Given the description of an element on the screen output the (x, y) to click on. 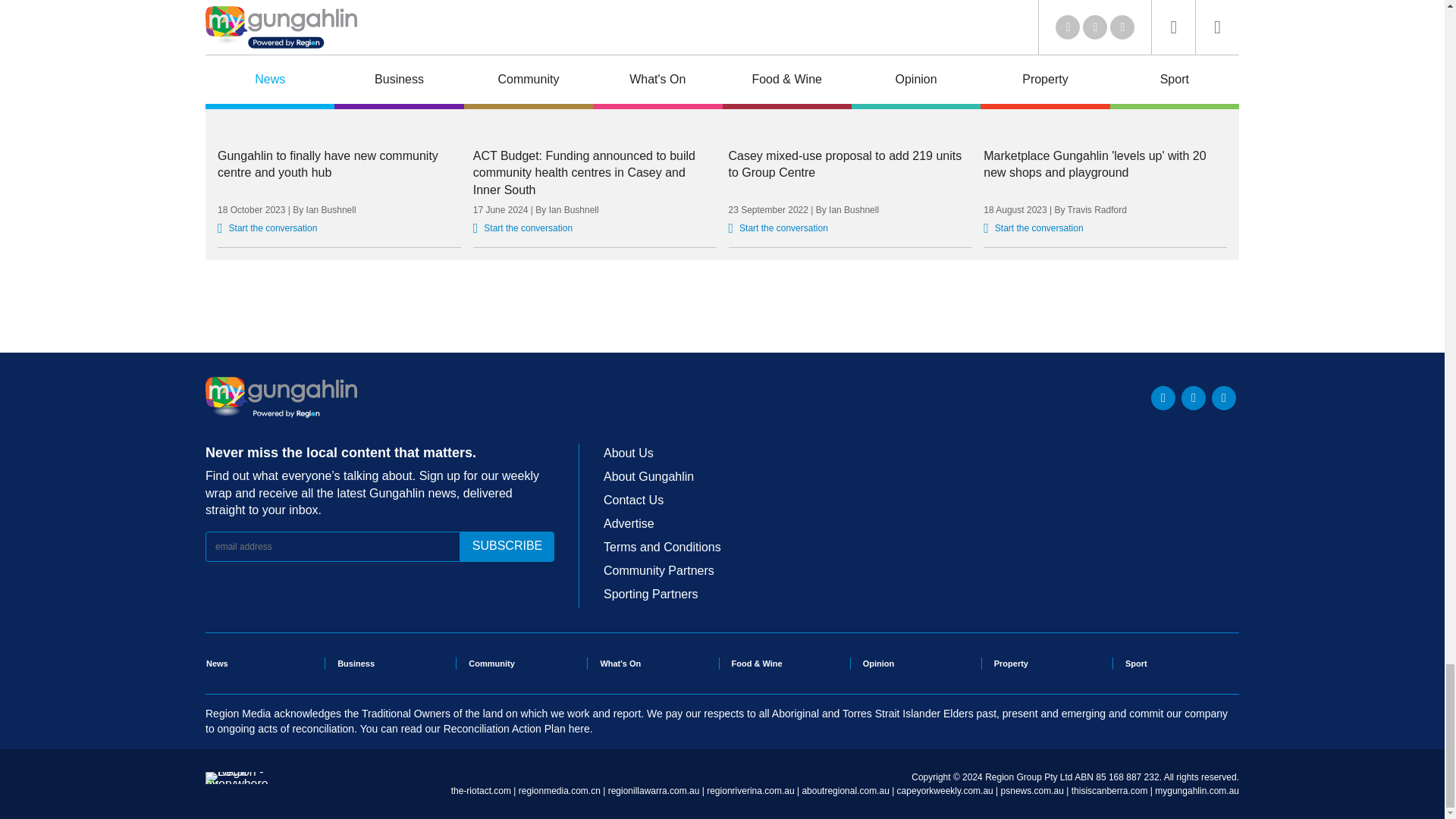
Twitter (1162, 397)
subscribe (507, 546)
Region - Local everywhere (236, 784)
Instagram (1223, 397)
Facebook (1192, 397)
